Given the description of an element on the screen output the (x, y) to click on. 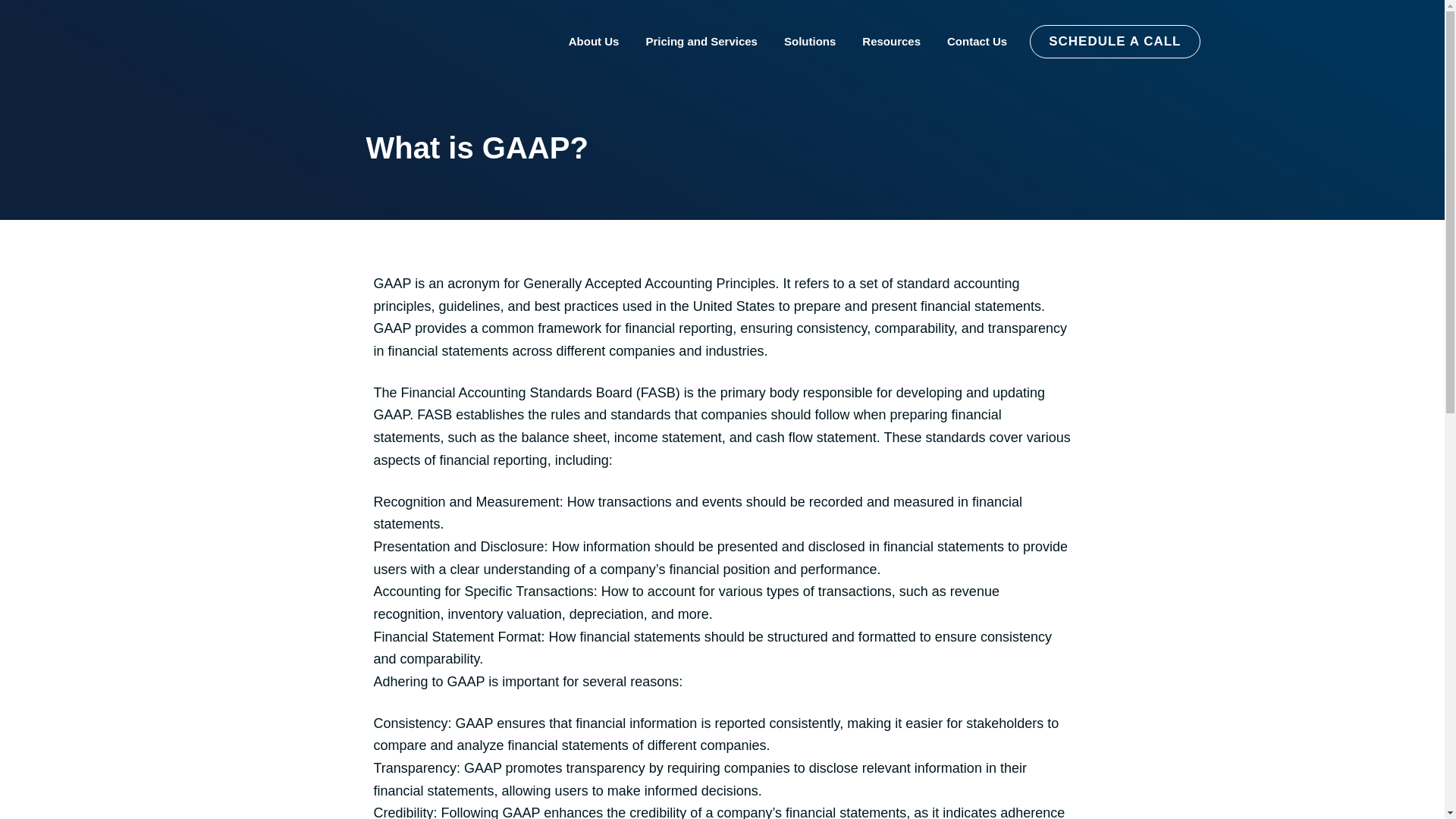
Pricing and Services (701, 41)
Contact Us (976, 41)
Resources (891, 41)
Solutions (810, 41)
About Us (593, 41)
